Given the description of an element on the screen output the (x, y) to click on. 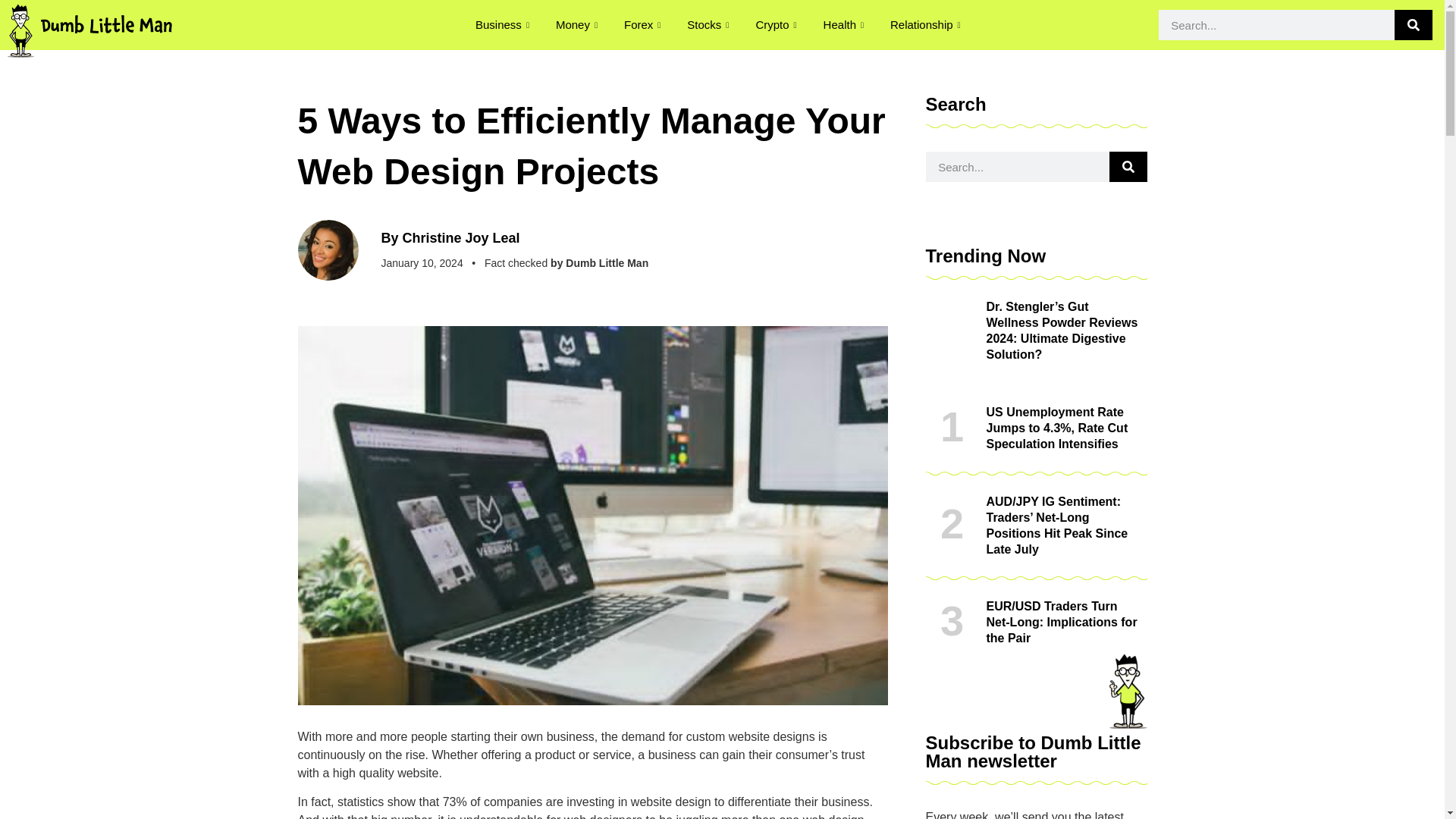
Business (504, 24)
